Given the description of an element on the screen output the (x, y) to click on. 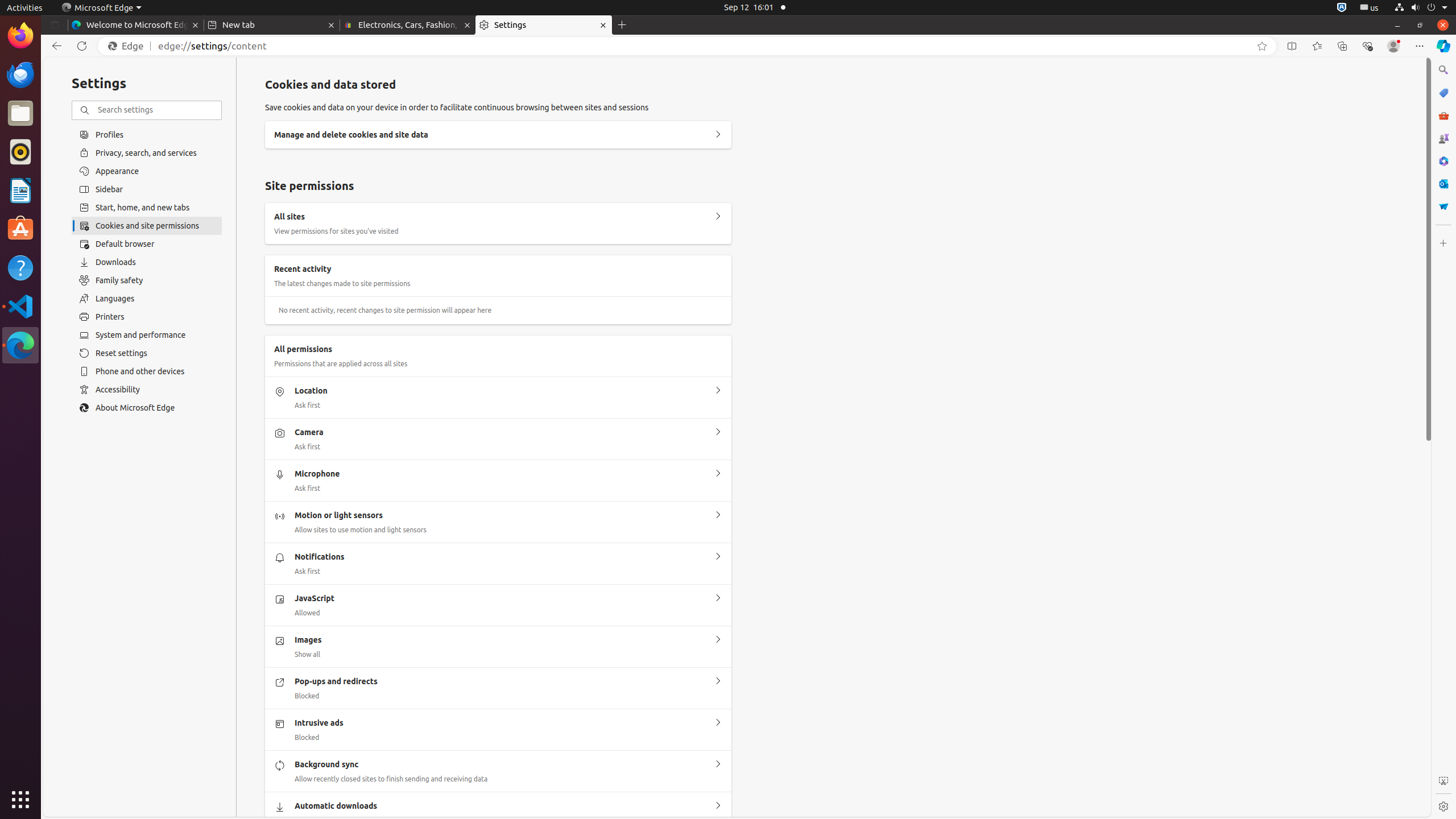
LibreOffice Writer Element type: push-button (20, 190)
Rhythmbox Element type: push-button (20, 151)
Automatic downloads Element type: push-button (717, 805)
Printers Element type: tree-item (146, 316)
Intrusive ads Element type: push-button (717, 722)
